Given the description of an element on the screen output the (x, y) to click on. 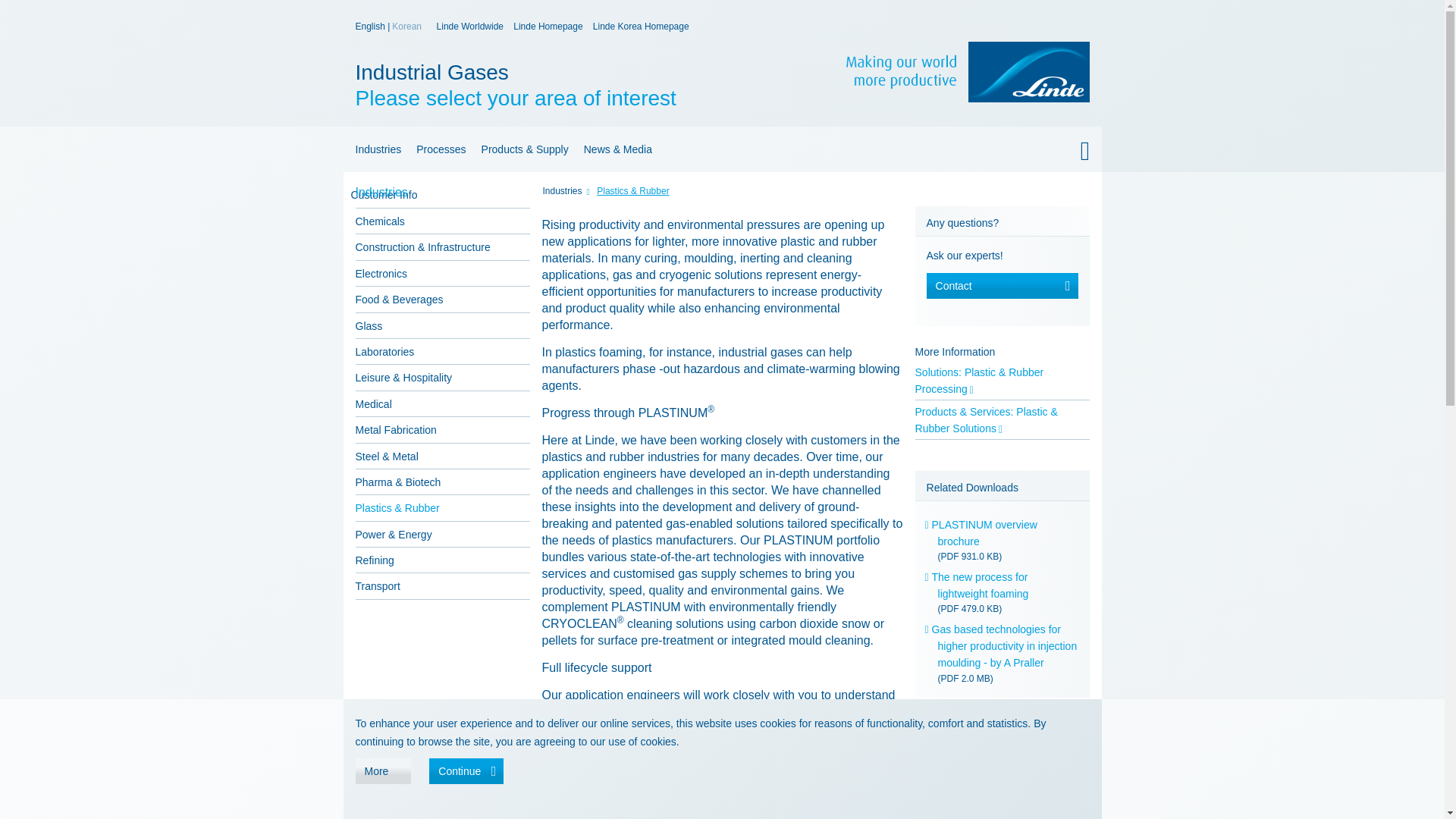
English  (574, 84)
Linde Korea Homepage (371, 26)
Industries (640, 26)
Linde Homepage (375, 148)
Industries (547, 26)
Linde Worldwide (721, 194)
Korean  (469, 26)
